Given the description of an element on the screen output the (x, y) to click on. 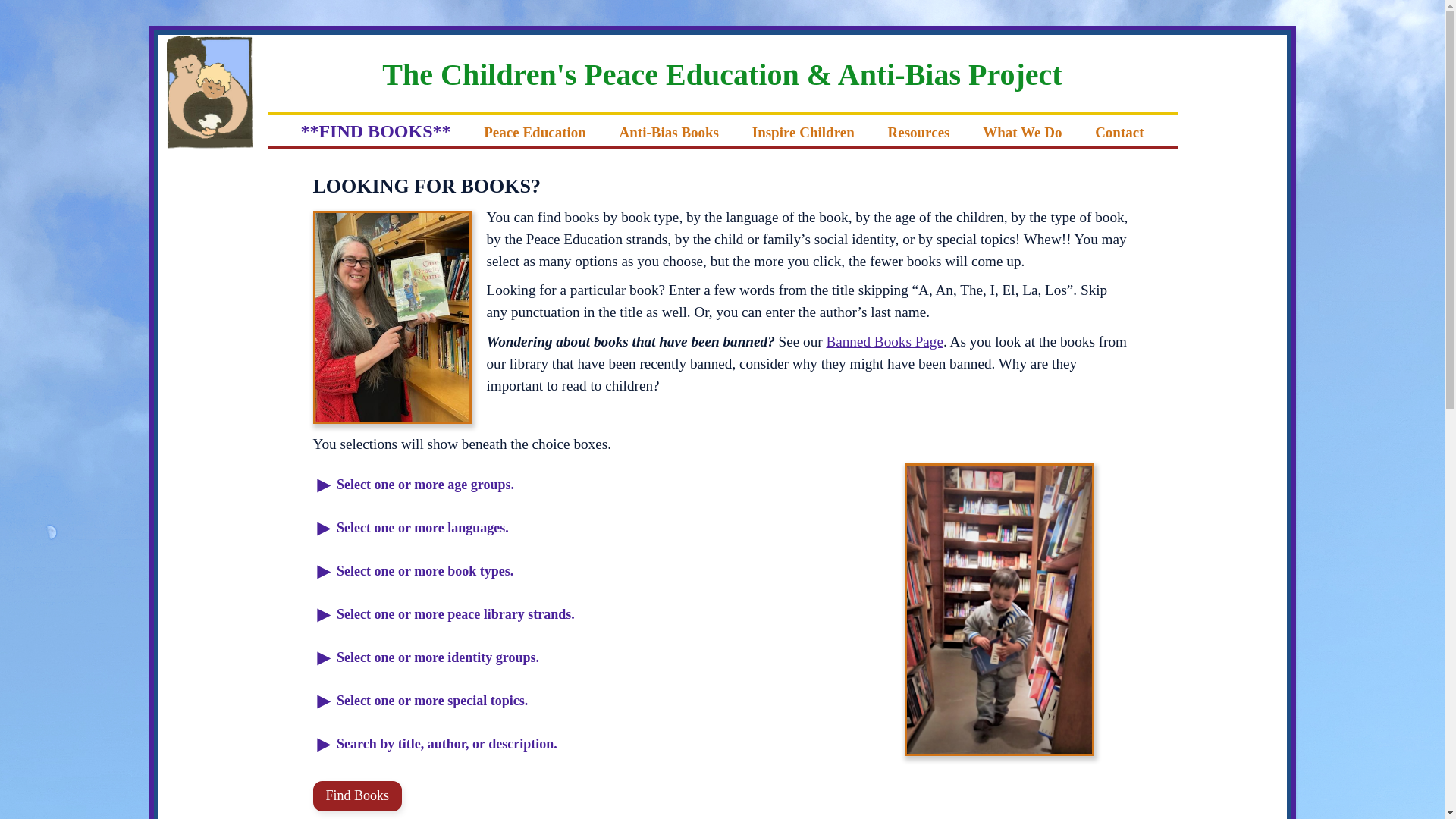
Peace Education (534, 131)
Contact (1119, 131)
Anti-Bias Books (668, 131)
What We Do (1022, 131)
Resources (917, 131)
Inspire Children (802, 131)
